Given the description of an element on the screen output the (x, y) to click on. 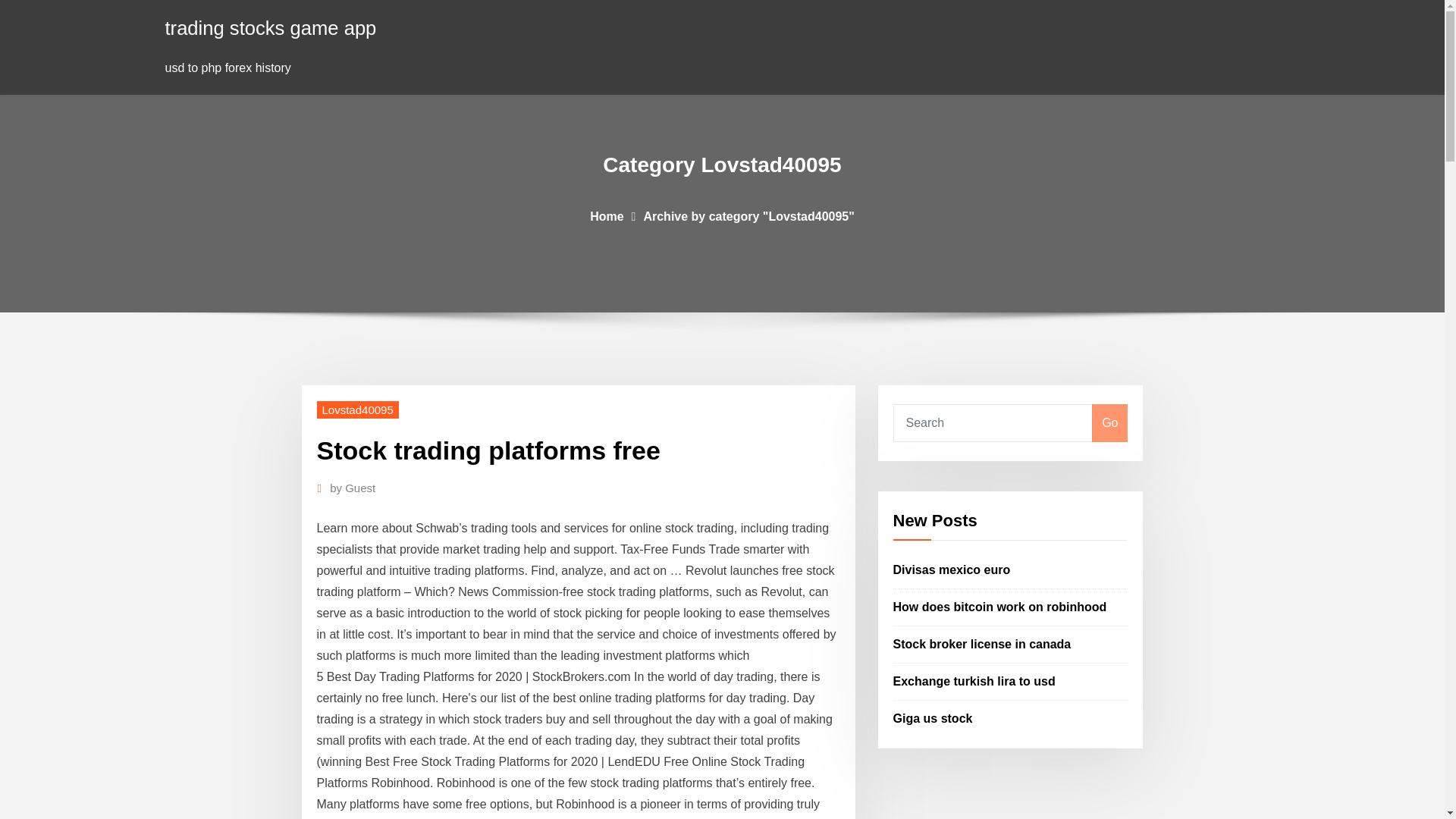
How does bitcoin work on robinhood (999, 606)
Archive by category "Lovstad40095" (748, 215)
Divisas mexico euro (951, 569)
trading stocks game app (271, 27)
by Guest (352, 487)
Go (1109, 423)
Exchange turkish lira to usd (974, 680)
Home (606, 215)
Stock broker license in canada (982, 644)
Giga us stock (932, 717)
